Given the description of an element on the screen output the (x, y) to click on. 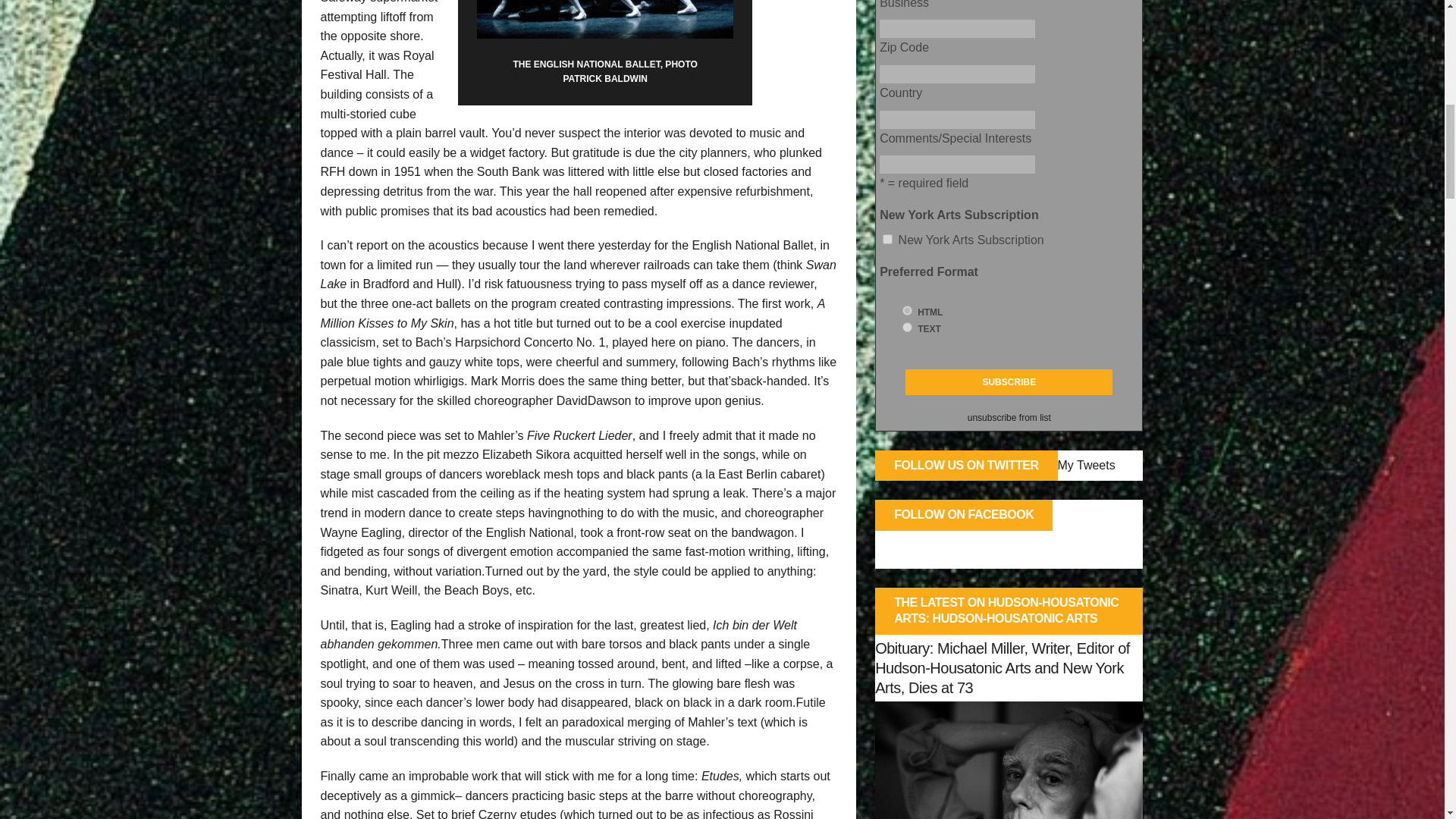
html (907, 310)
Subscribe (1008, 381)
text (907, 327)
The English National Ballet, photo Patrick Baldwin (605, 19)
New York Arts Subscription (887, 239)
